Given the description of an element on the screen output the (x, y) to click on. 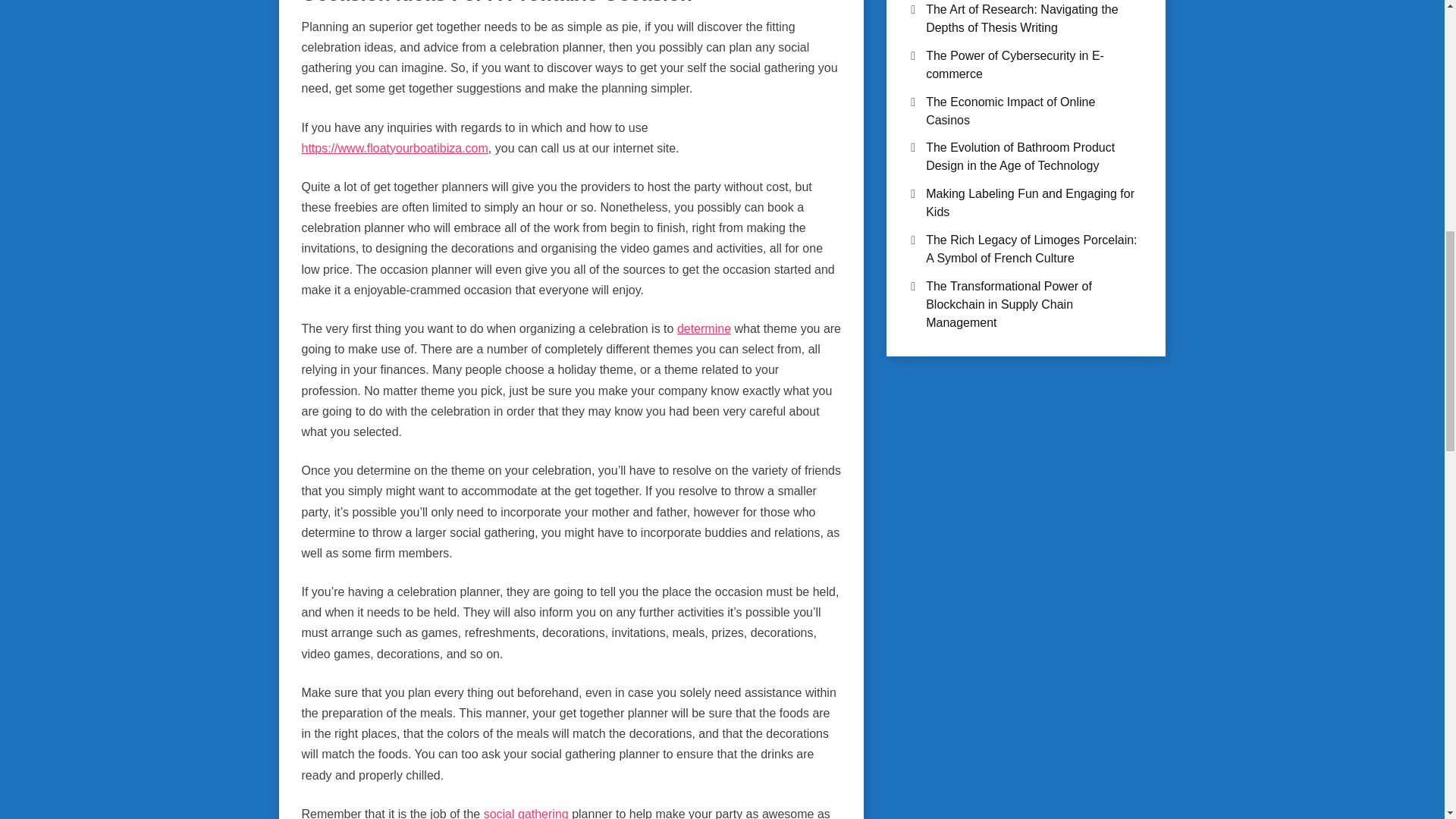
determine (703, 328)
social gathering (526, 813)
